Given the description of an element on the screen output the (x, y) to click on. 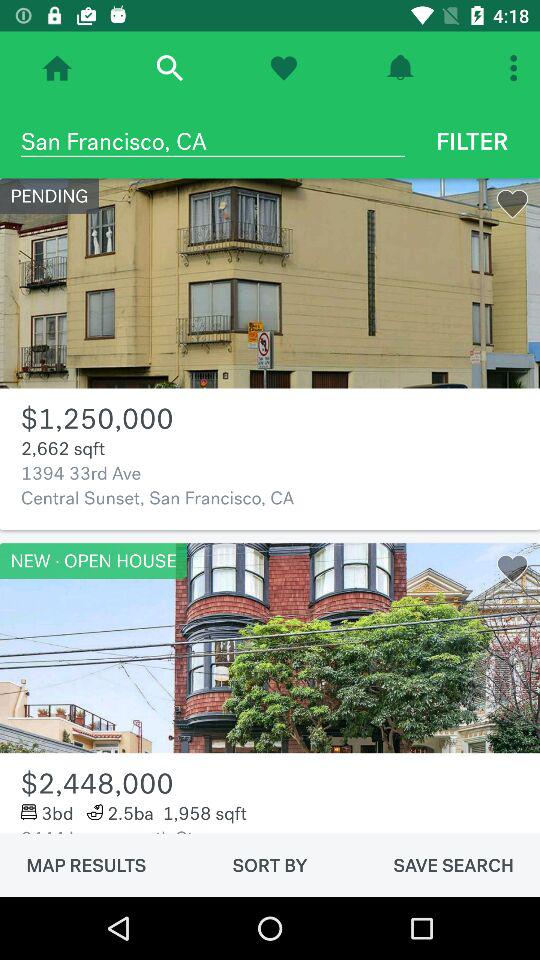
scroll until the filter icon (472, 141)
